Given the description of an element on the screen output the (x, y) to click on. 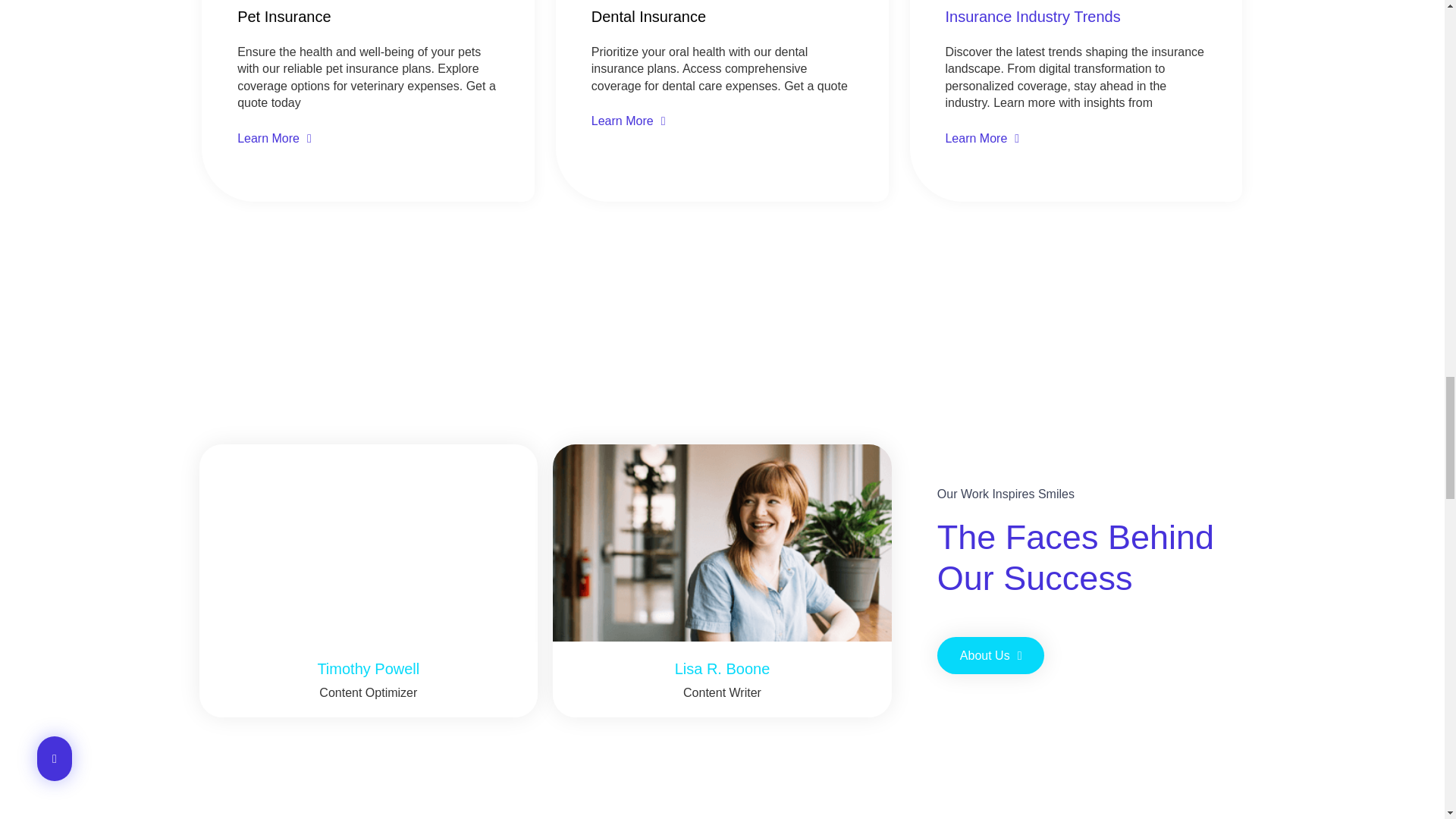
Learn More (628, 120)
Learn More (274, 137)
Dental Insurance (648, 16)
Learn More (981, 137)
Pet Insurance (283, 16)
About Us (991, 655)
